Given the description of an element on the screen output the (x, y) to click on. 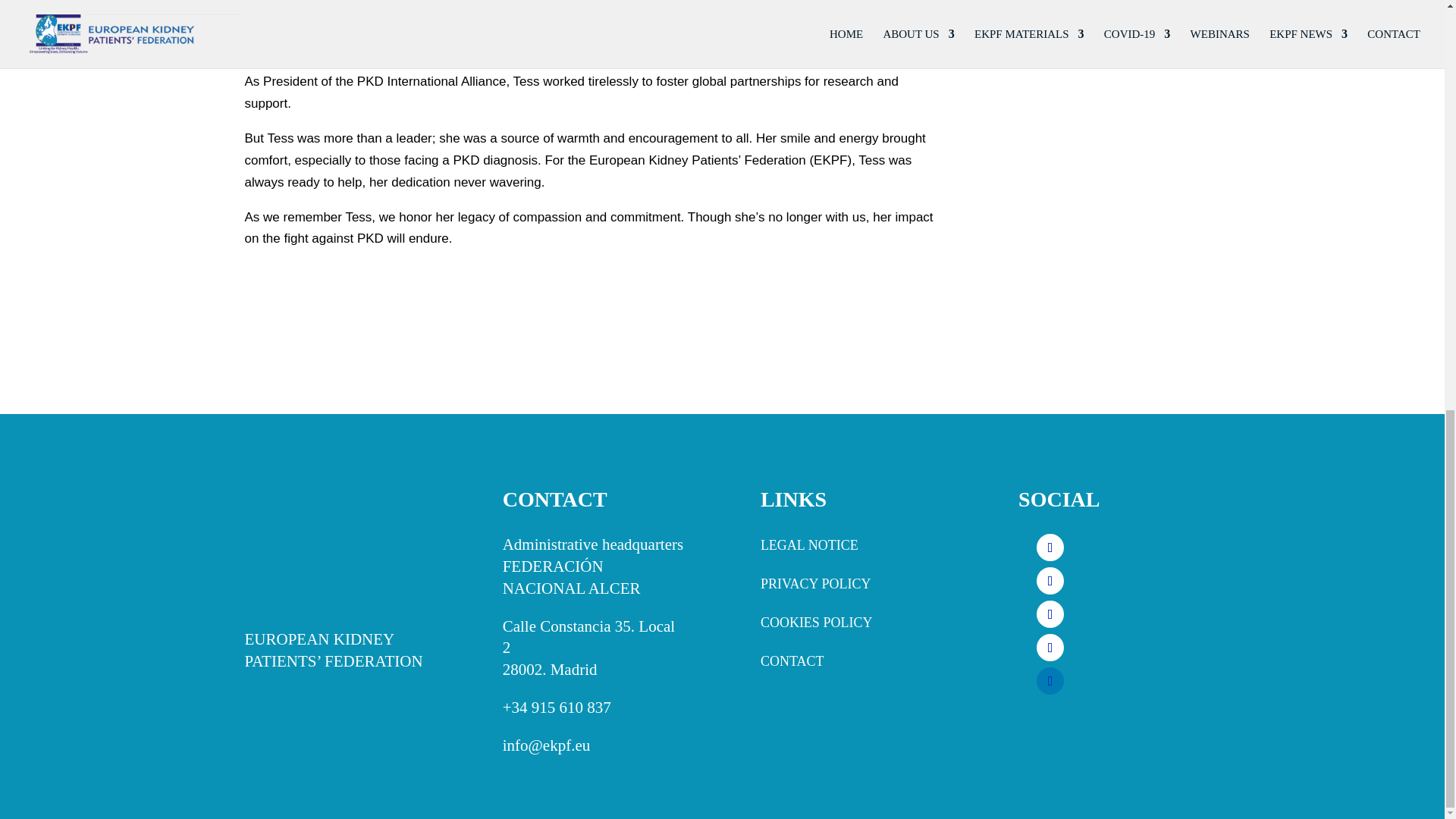
Logo EKPF con eslogan (334, 549)
Follow on Facebook (1050, 547)
LEGAL NOTICE (809, 544)
Follow on X (1050, 614)
Follow on Youtube (1050, 646)
Follow on LinkedIn (1050, 680)
Follow on Instagram (1050, 580)
